Given the description of an element on the screen output the (x, y) to click on. 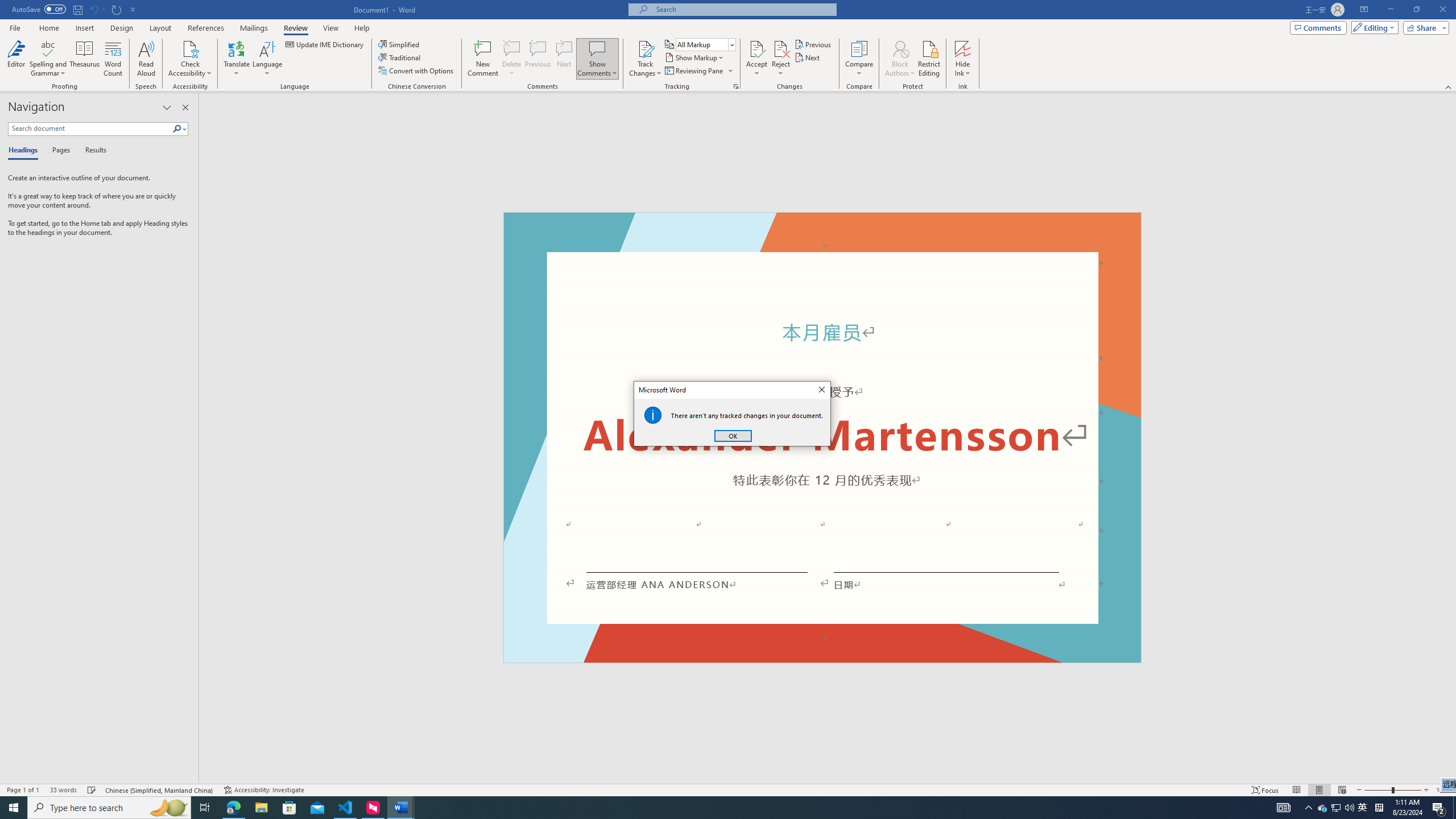
User Promoted Notification Area (1336, 807)
Track Changes (644, 58)
Hide Ink (962, 58)
Microsoft Store (289, 807)
Delete (511, 48)
AutomationID: 4105 (1283, 807)
Language Chinese (Simplified, Mainland China) (159, 790)
Traditional (400, 56)
Show Comments (597, 48)
Translate (236, 58)
Zoom (1392, 790)
File Tab (15, 27)
